Given the description of an element on the screen output the (x, y) to click on. 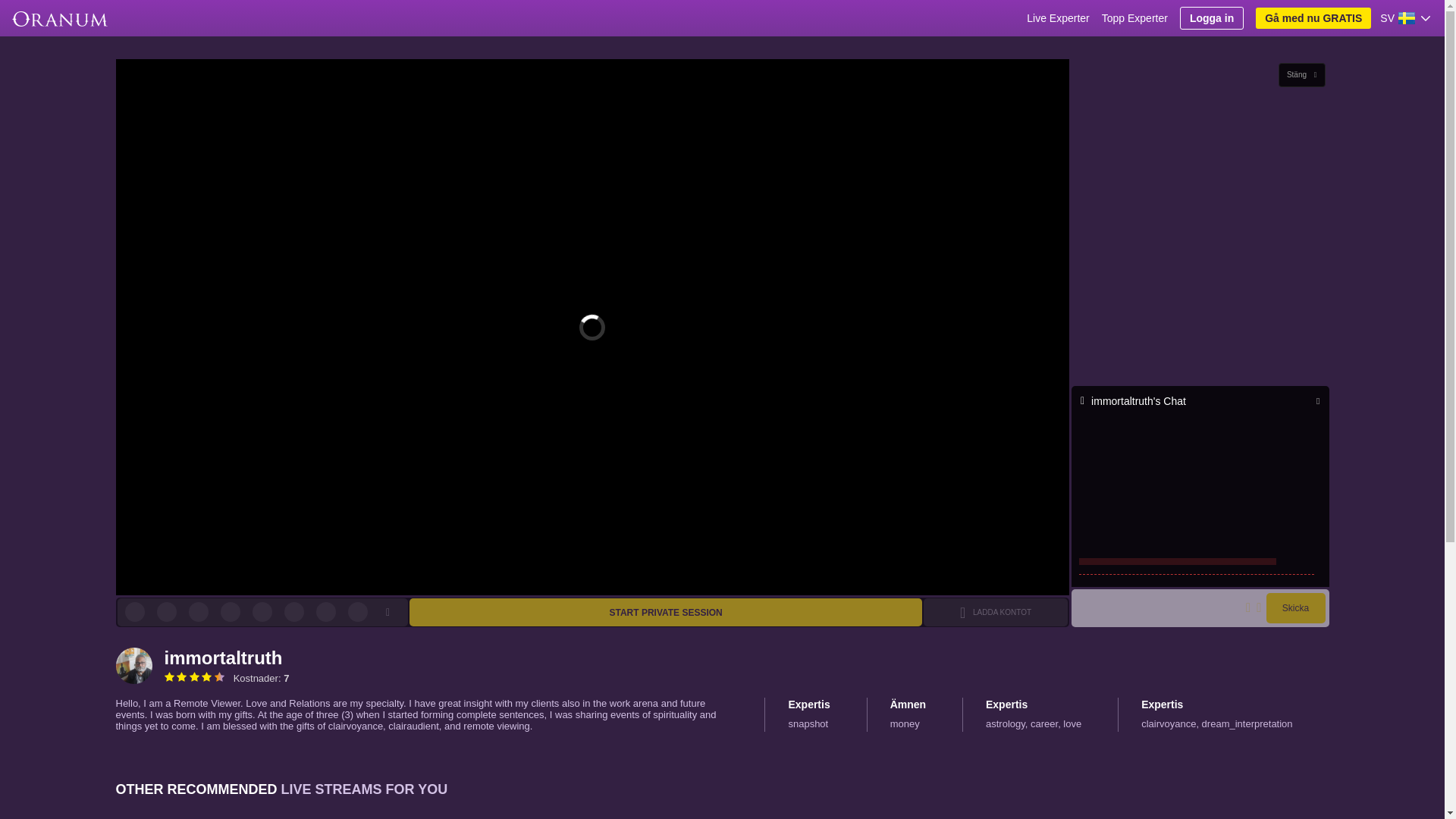
Logga in (1211, 17)
Topp Experter (1134, 18)
Live Experter (1057, 18)
